Given the description of an element on the screen output the (x, y) to click on. 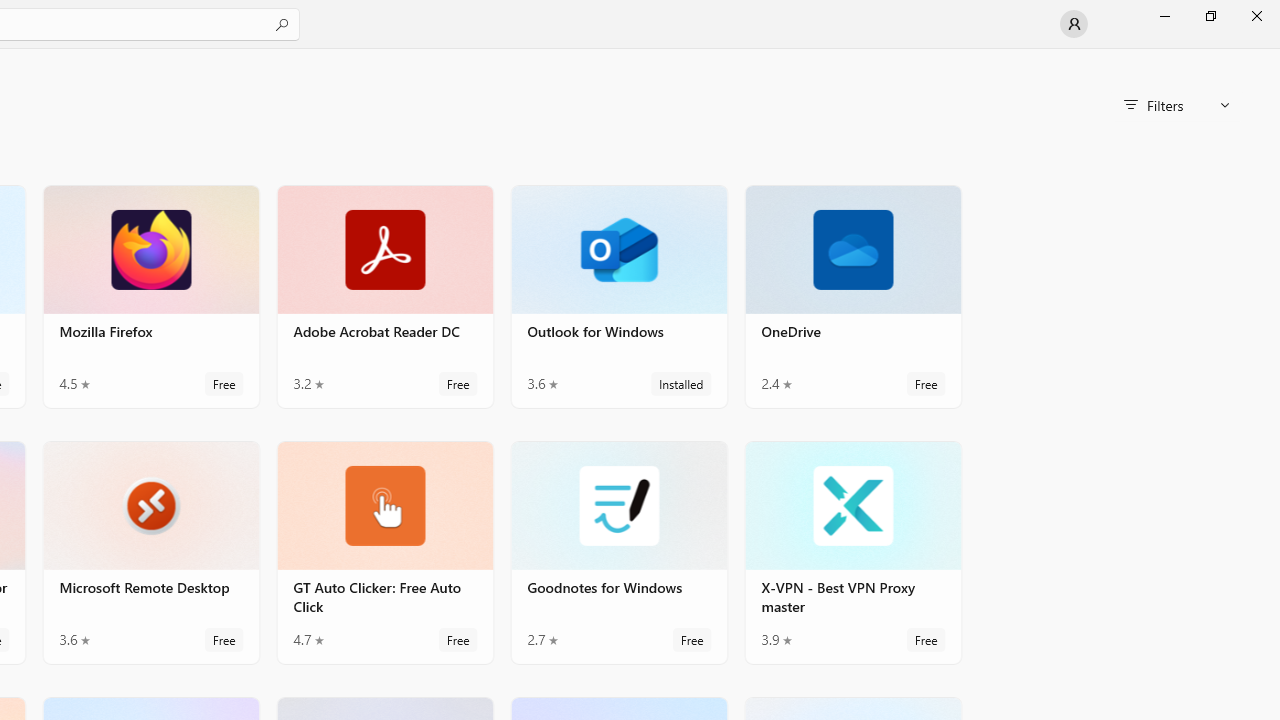
OneDrive. Average rating of 2.4 out of five stars. Free   (852, 296)
User profile (1073, 24)
Close Microsoft Store (1256, 15)
Filters (1176, 105)
Restore Microsoft Store (1210, 15)
Minimize Microsoft Store (1164, 15)
